Given the description of an element on the screen output the (x, y) to click on. 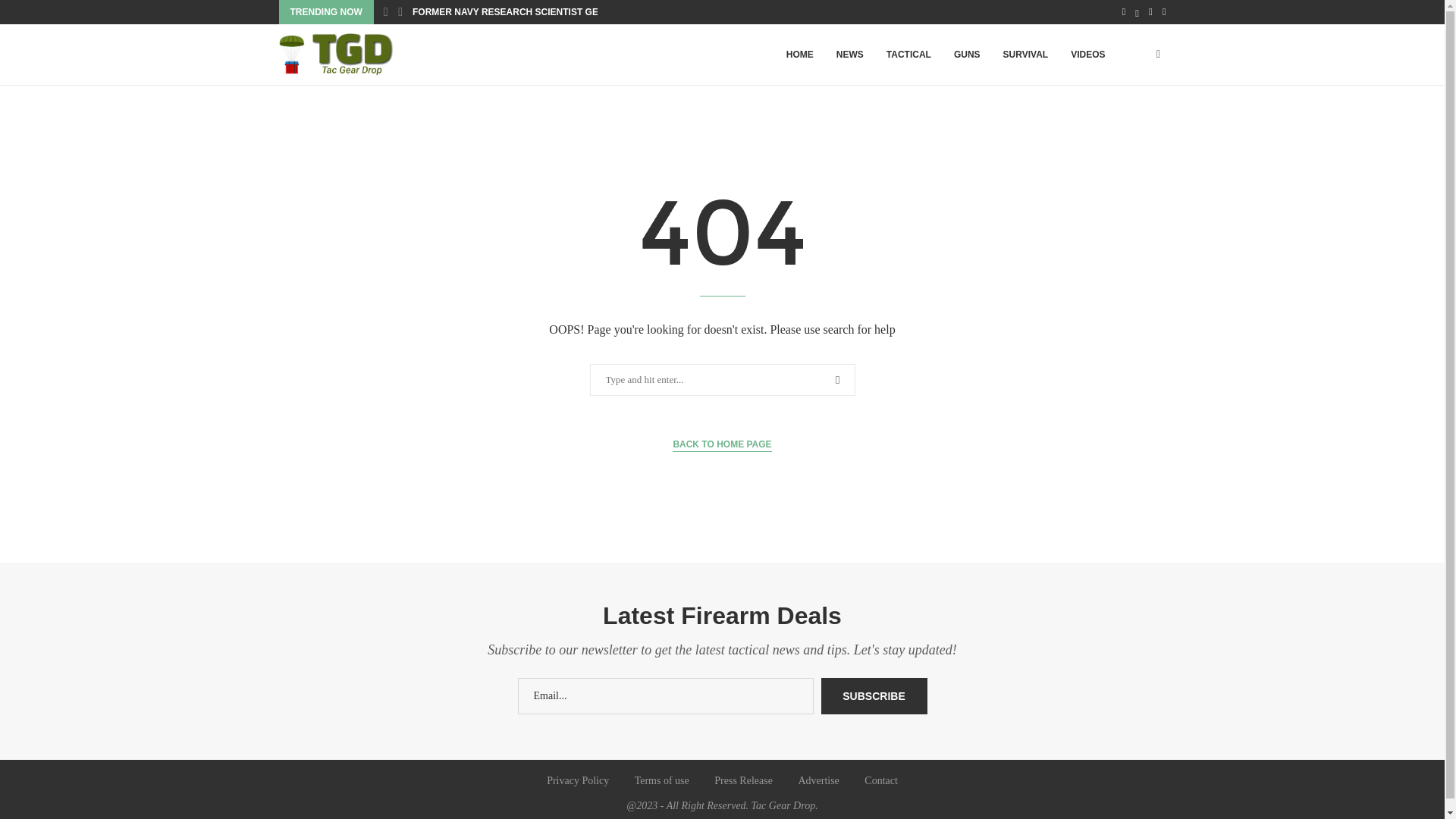
Press Release (743, 780)
Contact (881, 780)
Advertise (817, 780)
VIDEOS (1087, 54)
SURVIVAL (1025, 54)
Subscribe (873, 696)
BACK TO HOME PAGE (721, 444)
Privacy Policy (577, 780)
Subscribe (873, 696)
FORMER NAVY RESEARCH SCIENTIST GETS 25 YEARS FOR... (548, 12)
Search (35, 15)
TACTICAL (908, 54)
Terms of use (661, 780)
